Given the description of an element on the screen output the (x, y) to click on. 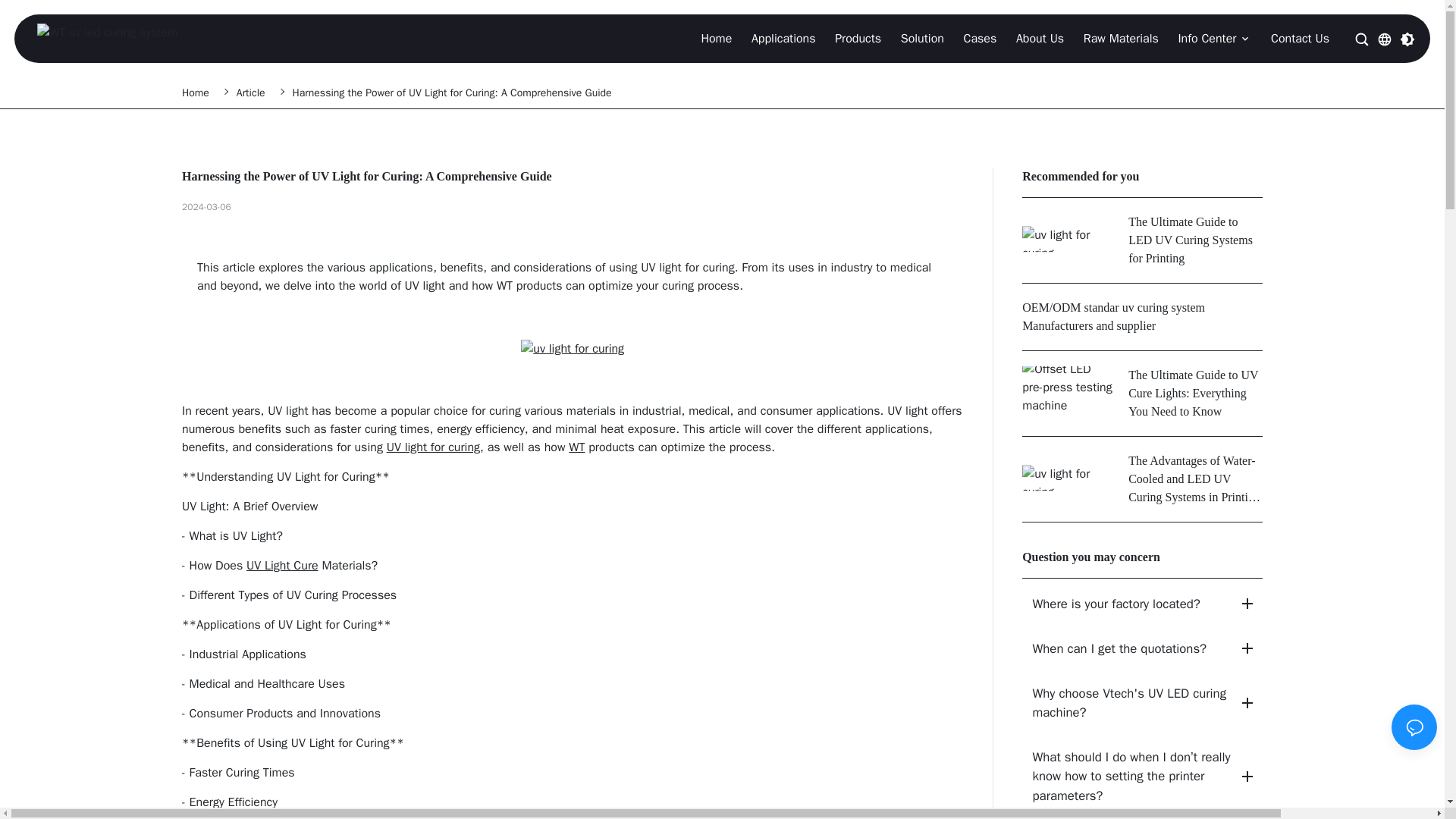
Home (199, 92)
Info Center (1215, 38)
Contact Us (1300, 38)
Applications (783, 38)
Home (716, 38)
Raw Materials (1121, 38)
LEDUV-1 (572, 348)
Info Center (1206, 38)
UV light for curing (433, 447)
Products (857, 38)
